Given the description of an element on the screen output the (x, y) to click on. 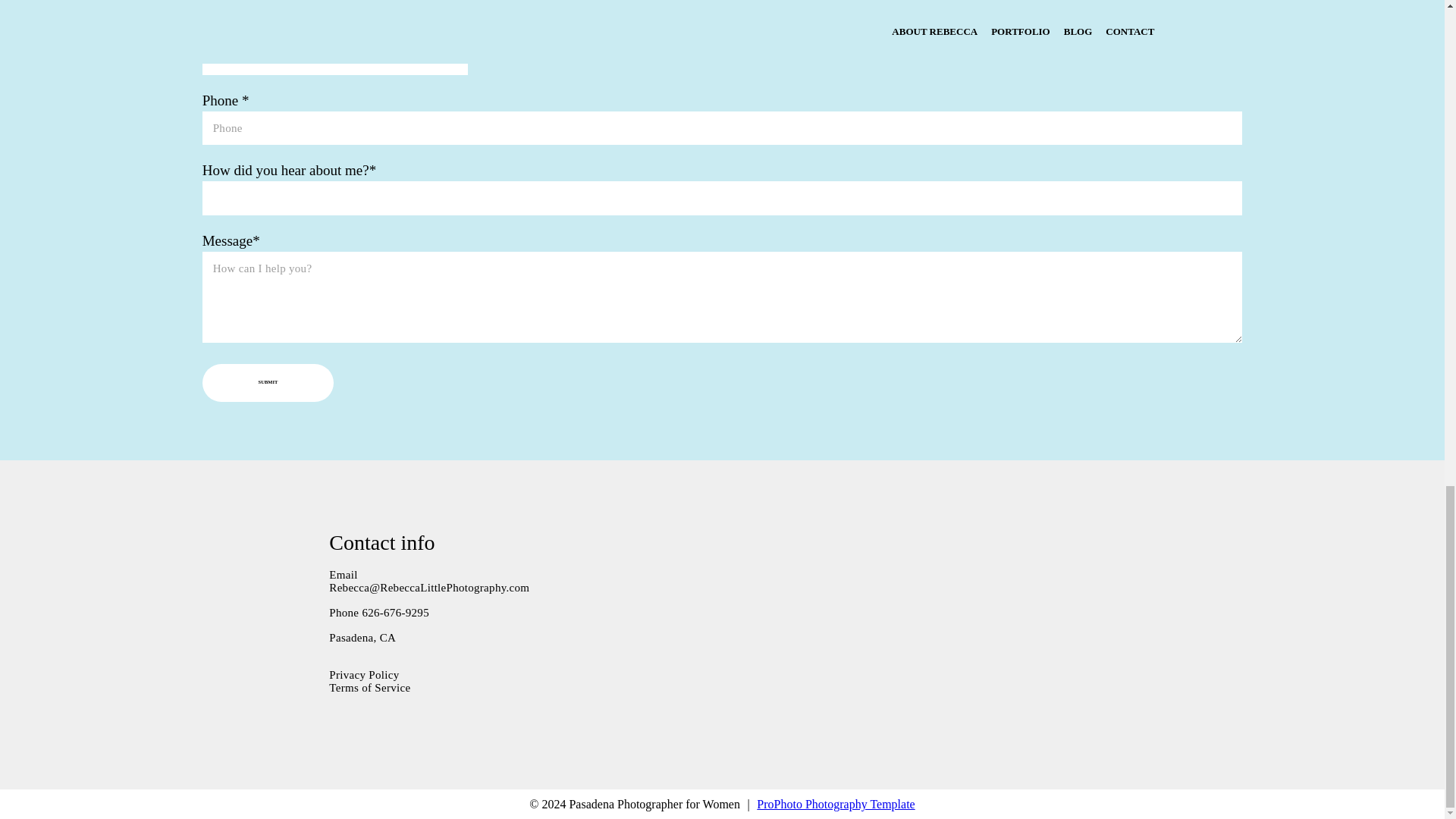
ProPhoto Photography Template (835, 803)
ProPhoto WordPress Blog (835, 803)
Terms of Service (369, 687)
Privacy Policy (363, 674)
